Given the description of an element on the screen output the (x, y) to click on. 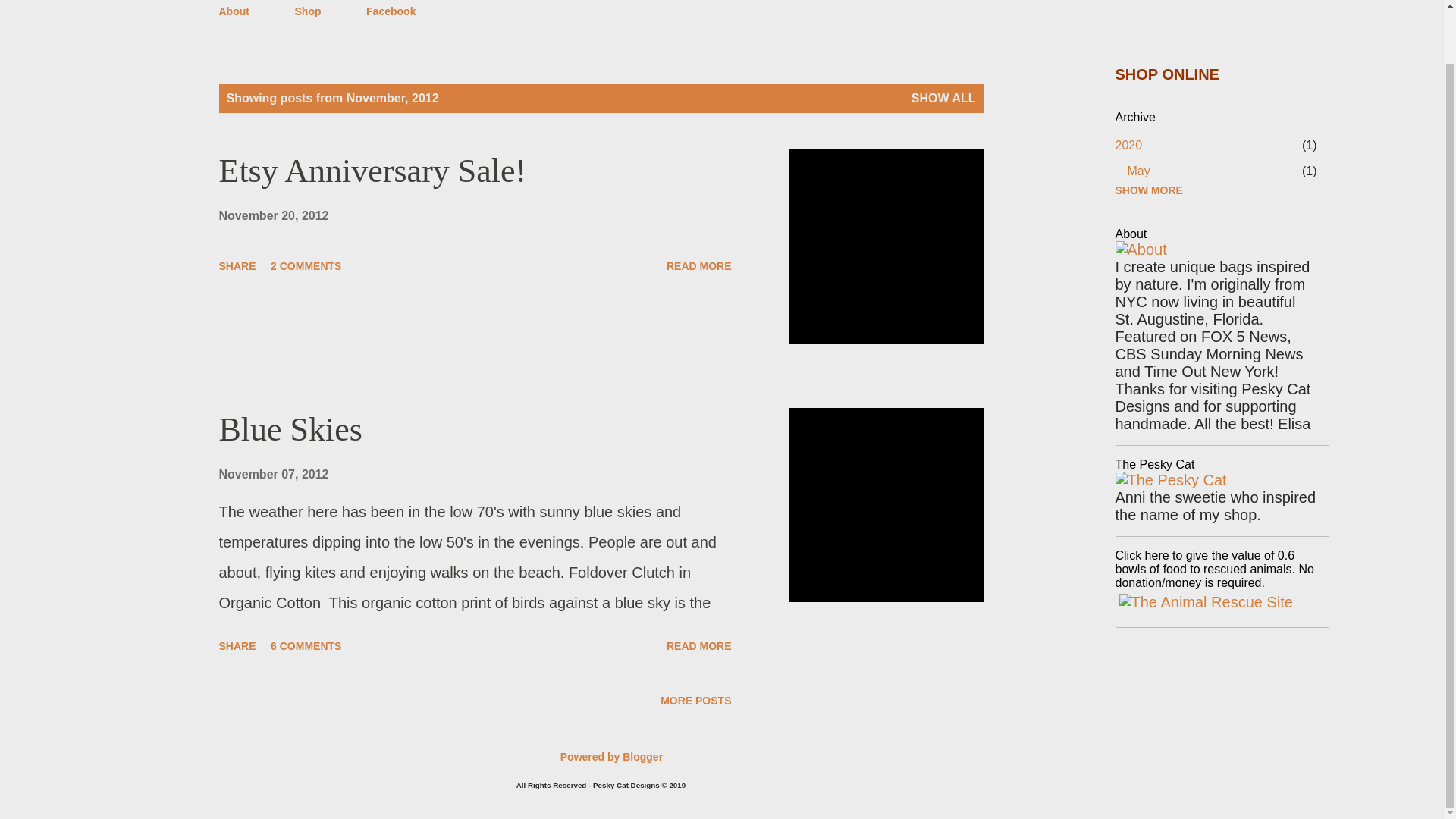
SHARE (237, 645)
SHOP ONLINE (1166, 74)
6 COMMENTS (305, 645)
permanent link (273, 215)
permanent link (273, 473)
MORE POSTS (694, 700)
SHOW ALL (943, 98)
READ MORE (699, 645)
November 07, 2012 (273, 473)
About (237, 13)
November 20, 2012 (273, 215)
Etsy Anniversary Sale! (699, 265)
Facebook (390, 13)
READ MORE (699, 265)
SHARE (237, 265)
